Given the description of an element on the screen output the (x, y) to click on. 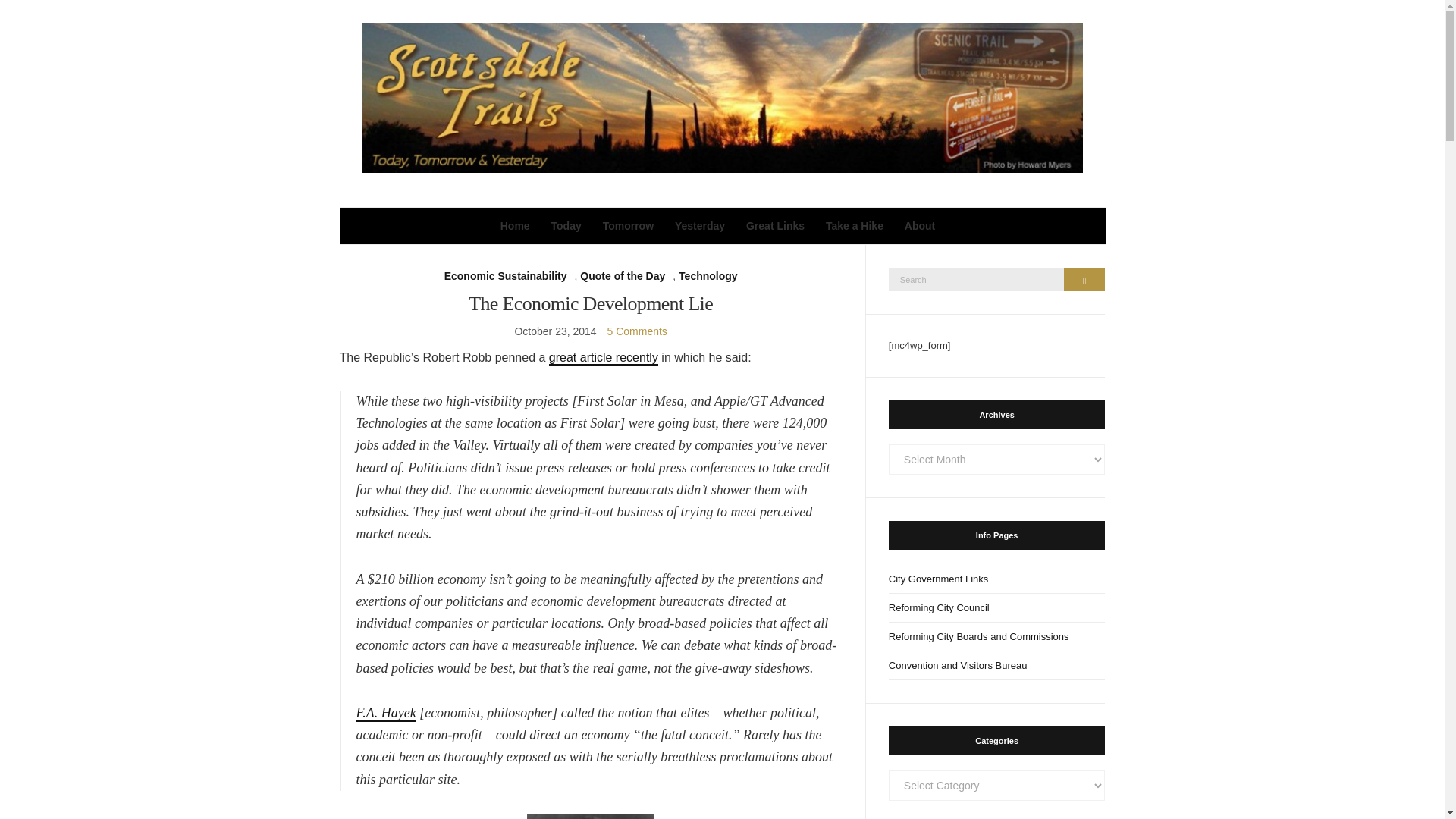
Home (514, 226)
Tomorrow (627, 226)
5 Comments (636, 331)
Technology (708, 276)
Economic Sustainability (505, 276)
great article recently (603, 358)
F.A. Hayek (386, 713)
Great Links (775, 226)
Take a Hike (854, 226)
Quote of the Day (622, 276)
Today (565, 226)
About (919, 226)
Yesterday (700, 226)
